Given the description of an element on the screen output the (x, y) to click on. 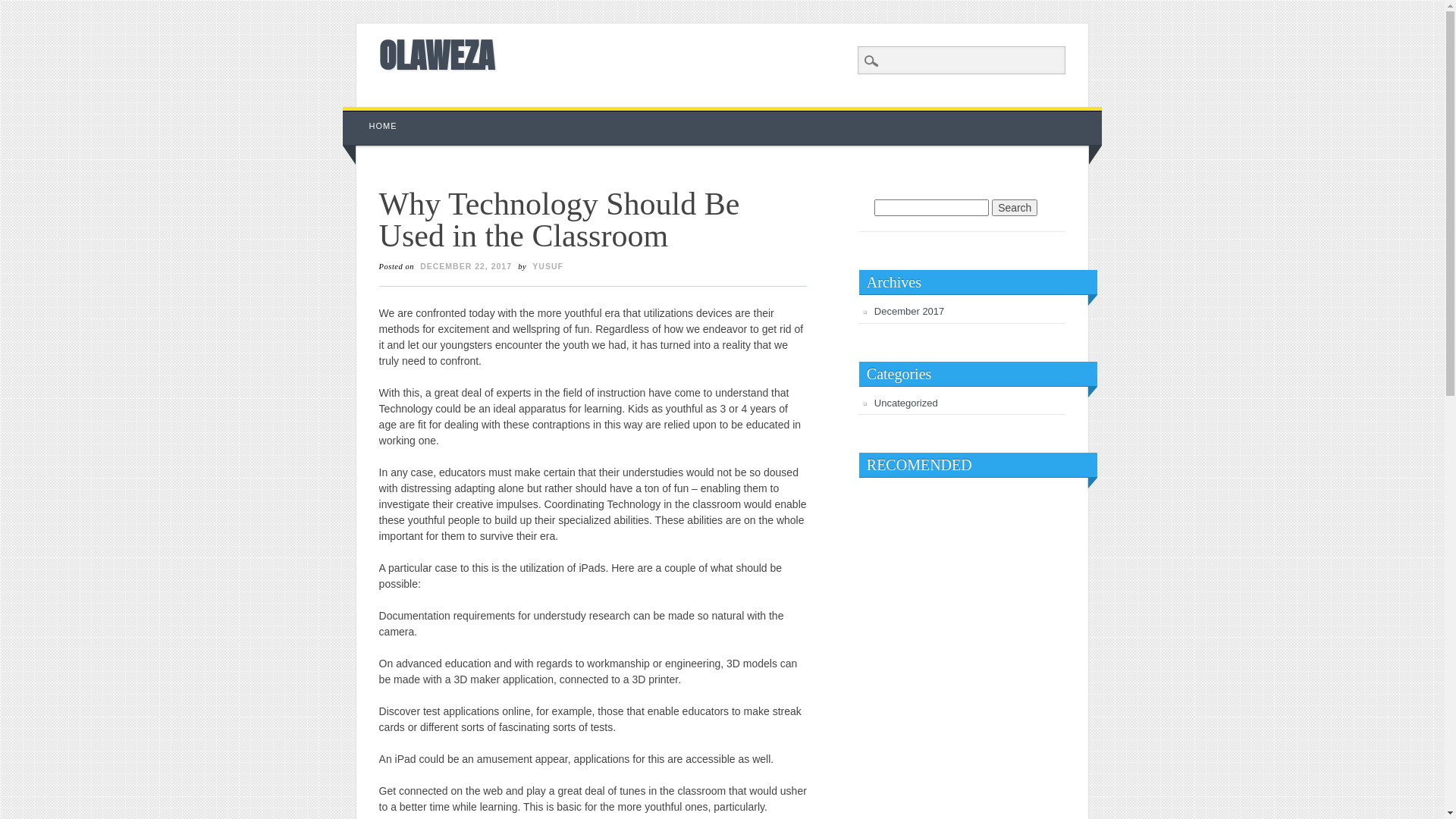
Skip to content Element type: text (377, 114)
DECEMBER 22, 2017 Element type: text (465, 265)
Uncategorized Element type: text (906, 402)
Search Element type: text (1014, 207)
OLAWEZA Element type: text (436, 55)
December 2017 Element type: text (909, 310)
YUSUF Element type: text (547, 265)
HOME Element type: text (383, 125)
Search Element type: text (22, 8)
